Given the description of an element on the screen output the (x, y) to click on. 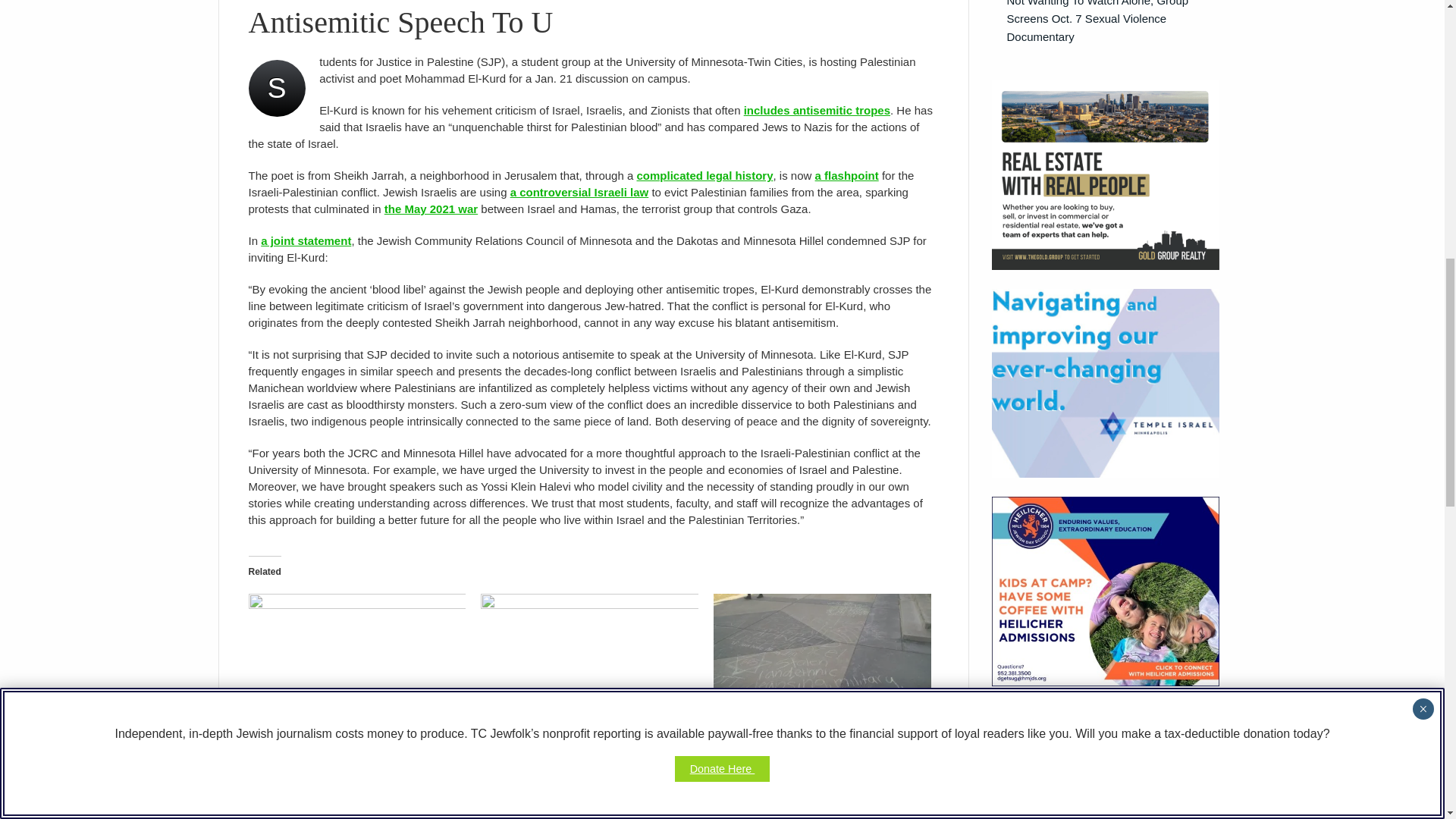
Federation CEO Steve Silberfarb On Palestine Statehood (334, 732)
Federation CEO Steve Silberfarb On Palestine Statehood (356, 655)
